Given the description of an element on the screen output the (x, y) to click on. 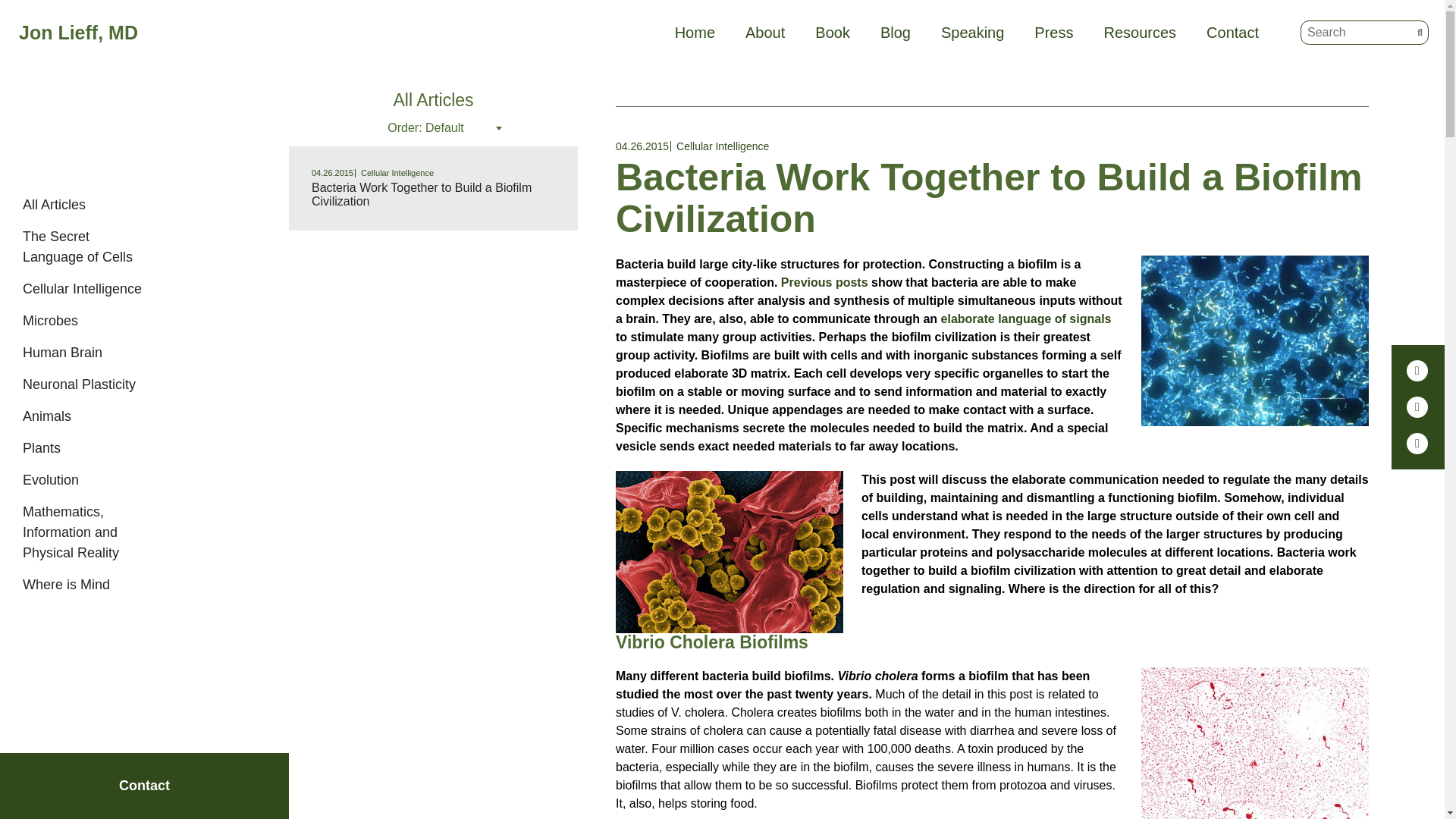
The Secret Language of Cells (77, 246)
Speaking (972, 32)
Book (832, 32)
Follow Jon Lieff M.D. on Facebook (1417, 406)
Previous posts (823, 282)
Follow Jon Lieff M.D. on LinkedIn (1417, 370)
Blog (895, 32)
About (764, 32)
About (764, 32)
Contact (1233, 32)
Resources (1139, 32)
Speaking (972, 32)
All Articles (54, 204)
Press (1053, 32)
Cellular Intelligence (82, 287)
